Given the description of an element on the screen output the (x, y) to click on. 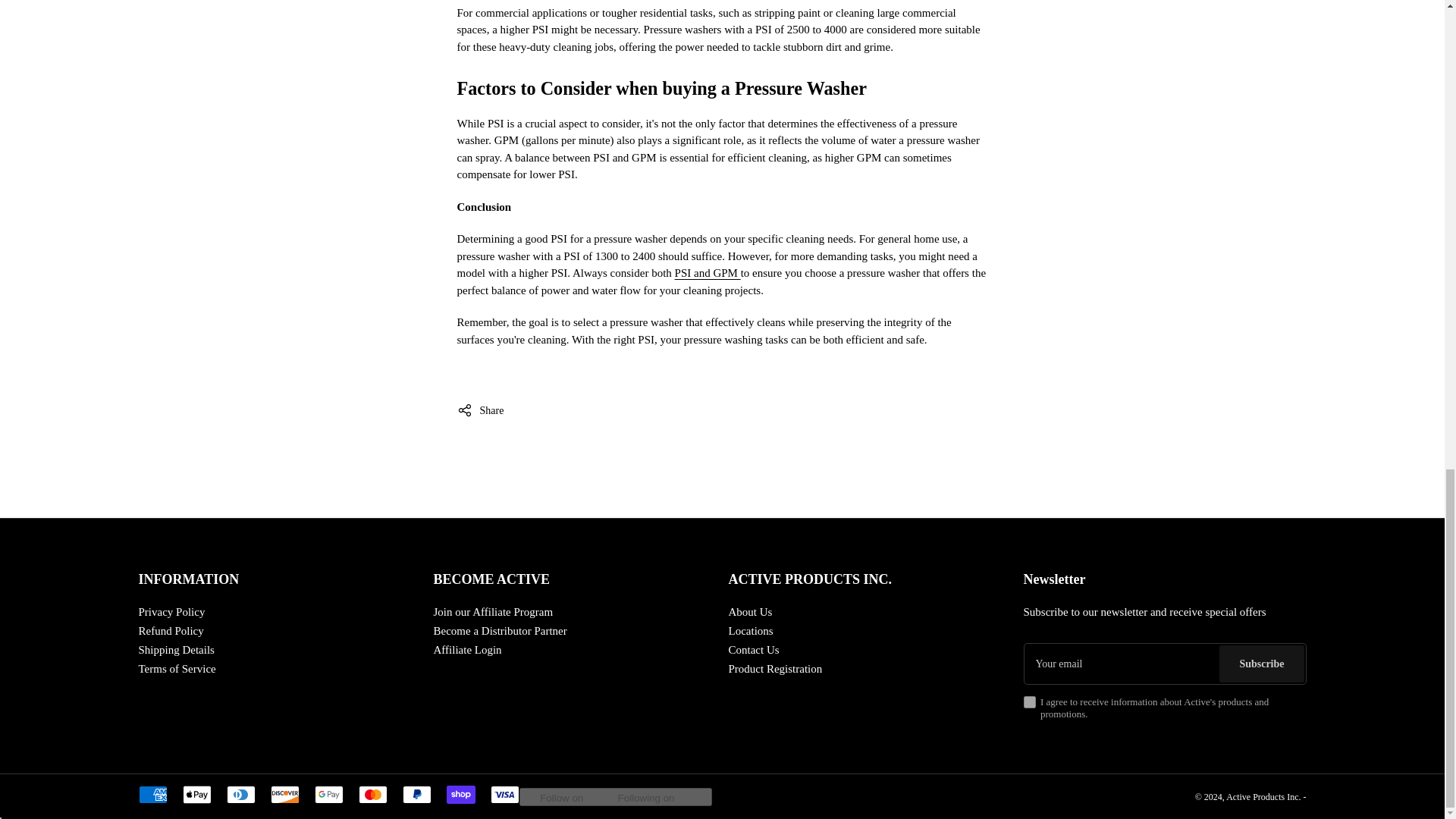
Discover (283, 794)
Google Pay (328, 794)
Diners Club (239, 794)
Shop Pay (459, 794)
Mastercard (372, 794)
Active 2.0 Pressure Washer (708, 272)
PayPal (415, 794)
American Express (152, 794)
on (1029, 702)
Visa (503, 794)
